Given the description of an element on the screen output the (x, y) to click on. 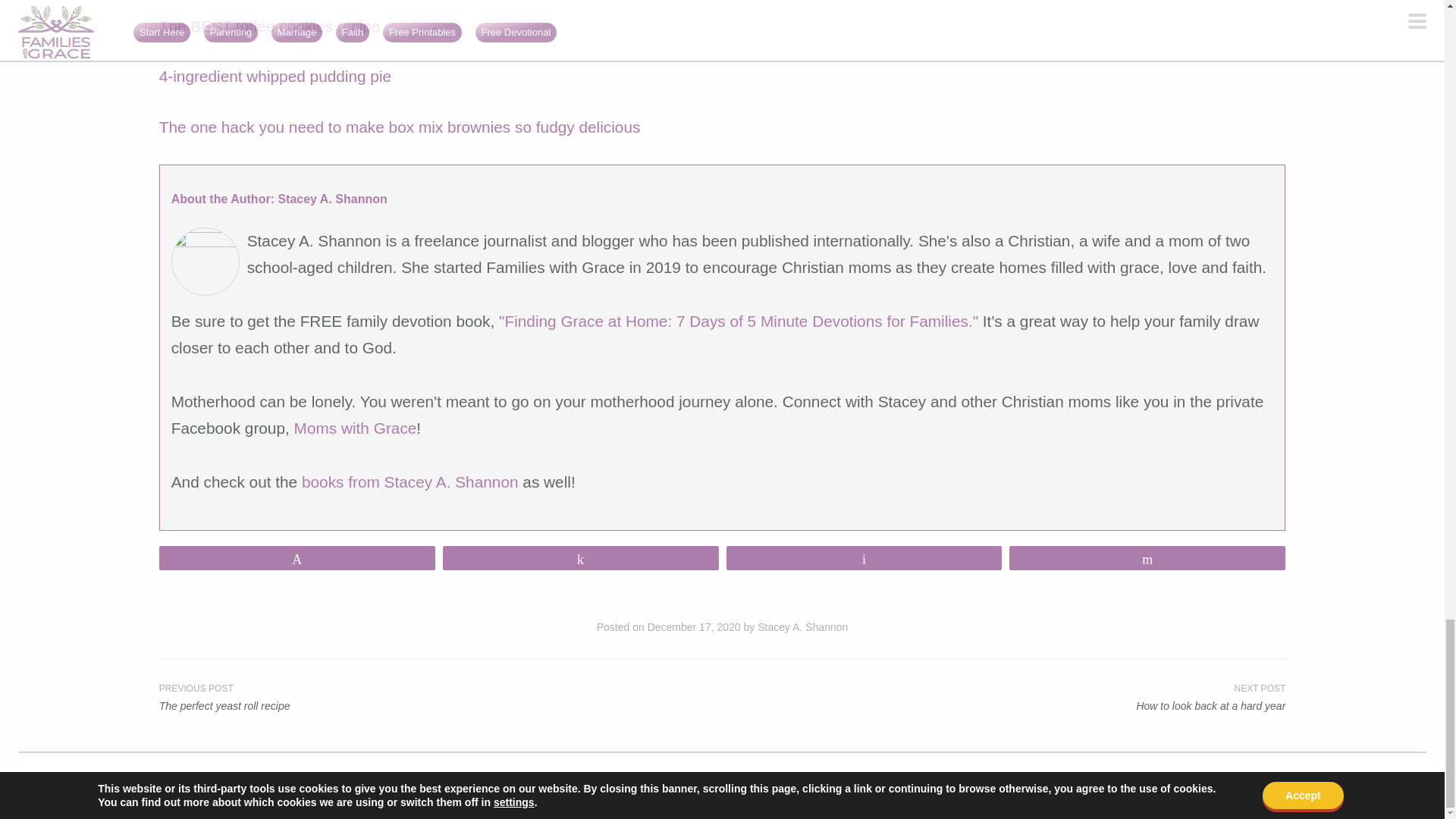
The BEST toffee cookies recipe (269, 26)
4-ingredient whipped pudding pie (274, 76)
Moms with Grace (355, 427)
